Given the description of an element on the screen output the (x, y) to click on. 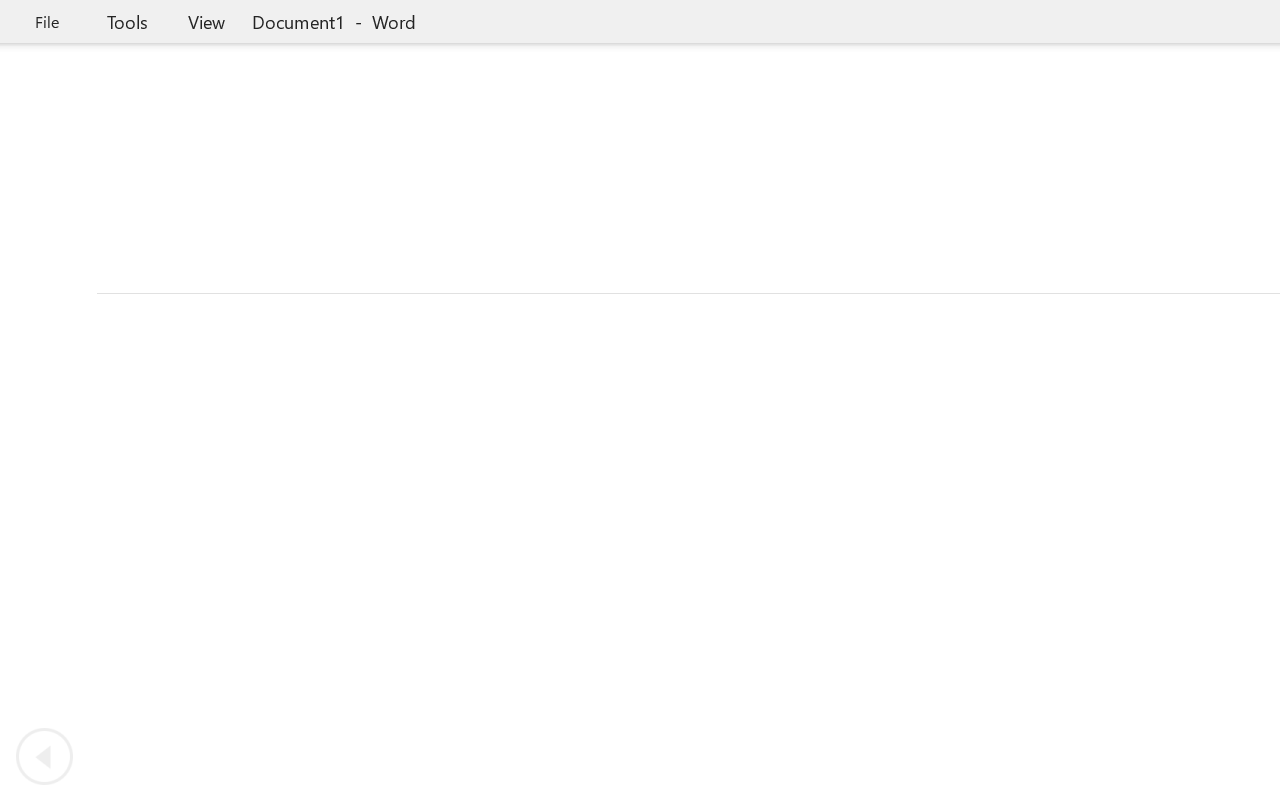
Tools (127, 21)
